Given the description of an element on the screen output the (x, y) to click on. 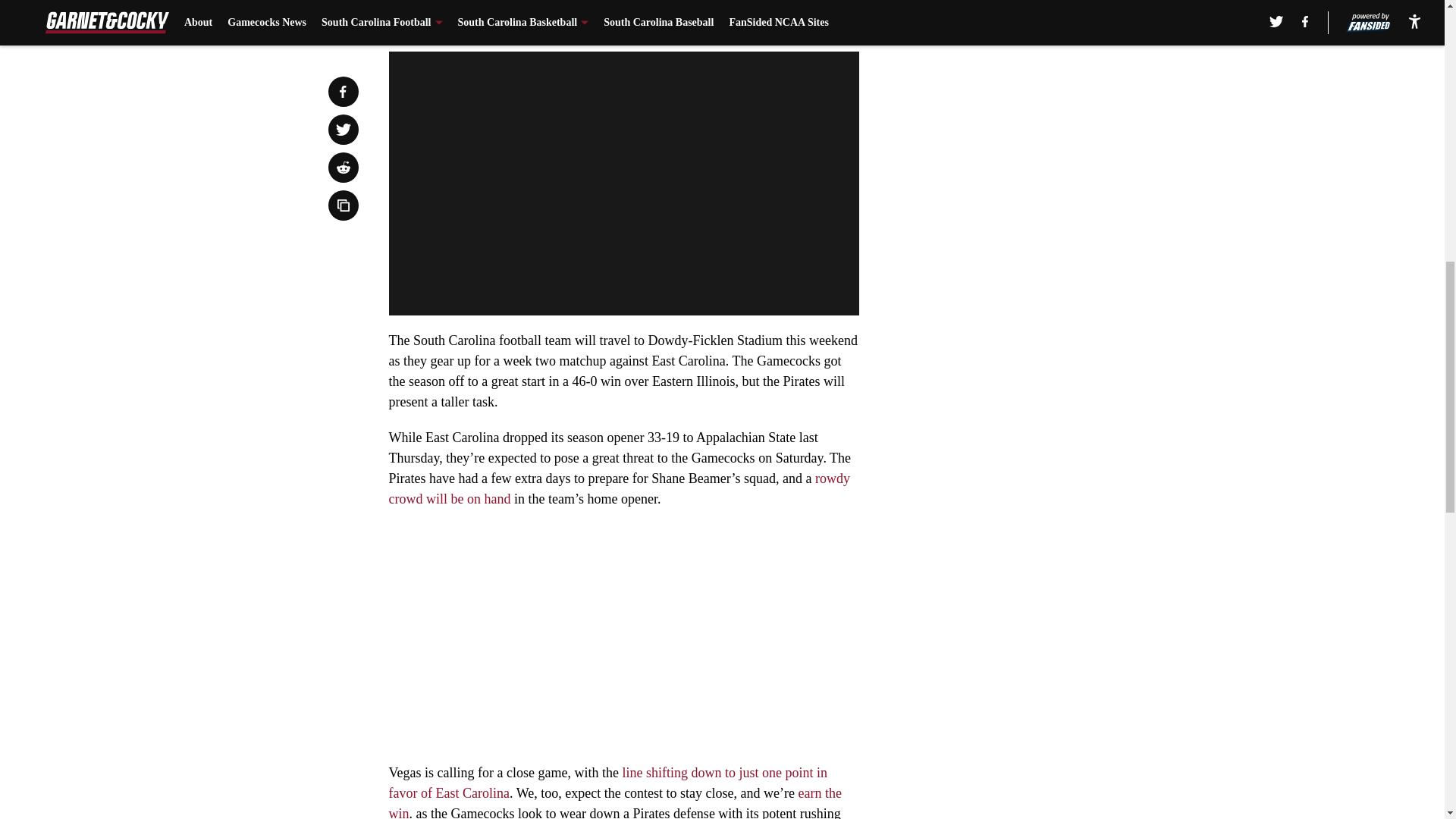
3rd party ad content (1047, 320)
Prev (433, 20)
rowdy crowd will be on hand (618, 488)
Next (813, 20)
earn the win (614, 802)
3rd party ad content (1047, 100)
